Given the description of an element on the screen output the (x, y) to click on. 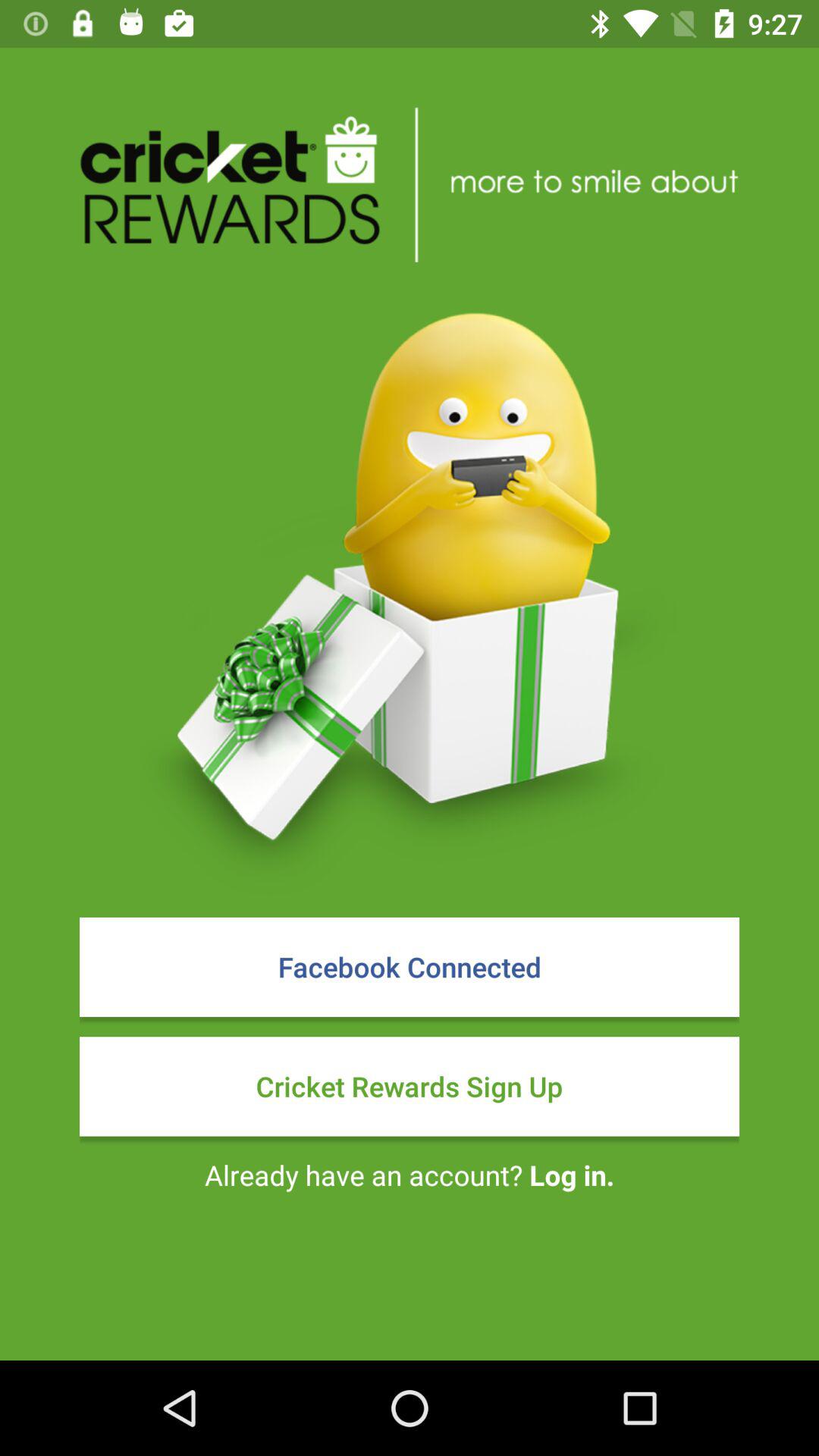
swipe until the cricket rewards sign (409, 1086)
